Given the description of an element on the screen output the (x, y) to click on. 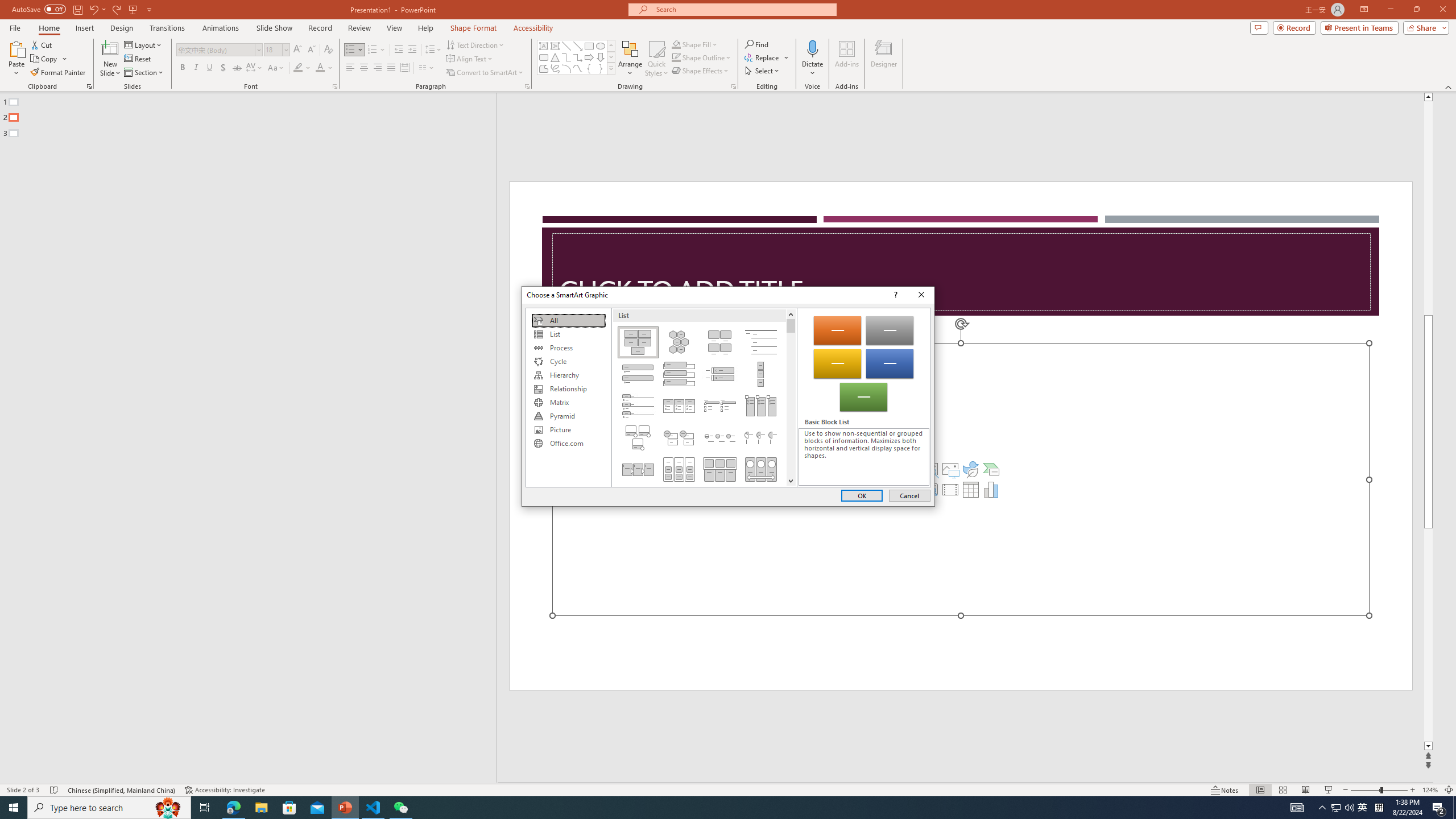
Graphic Categories (568, 397)
Graphic Layouts (703, 397)
